Given the description of an element on the screen output the (x, y) to click on. 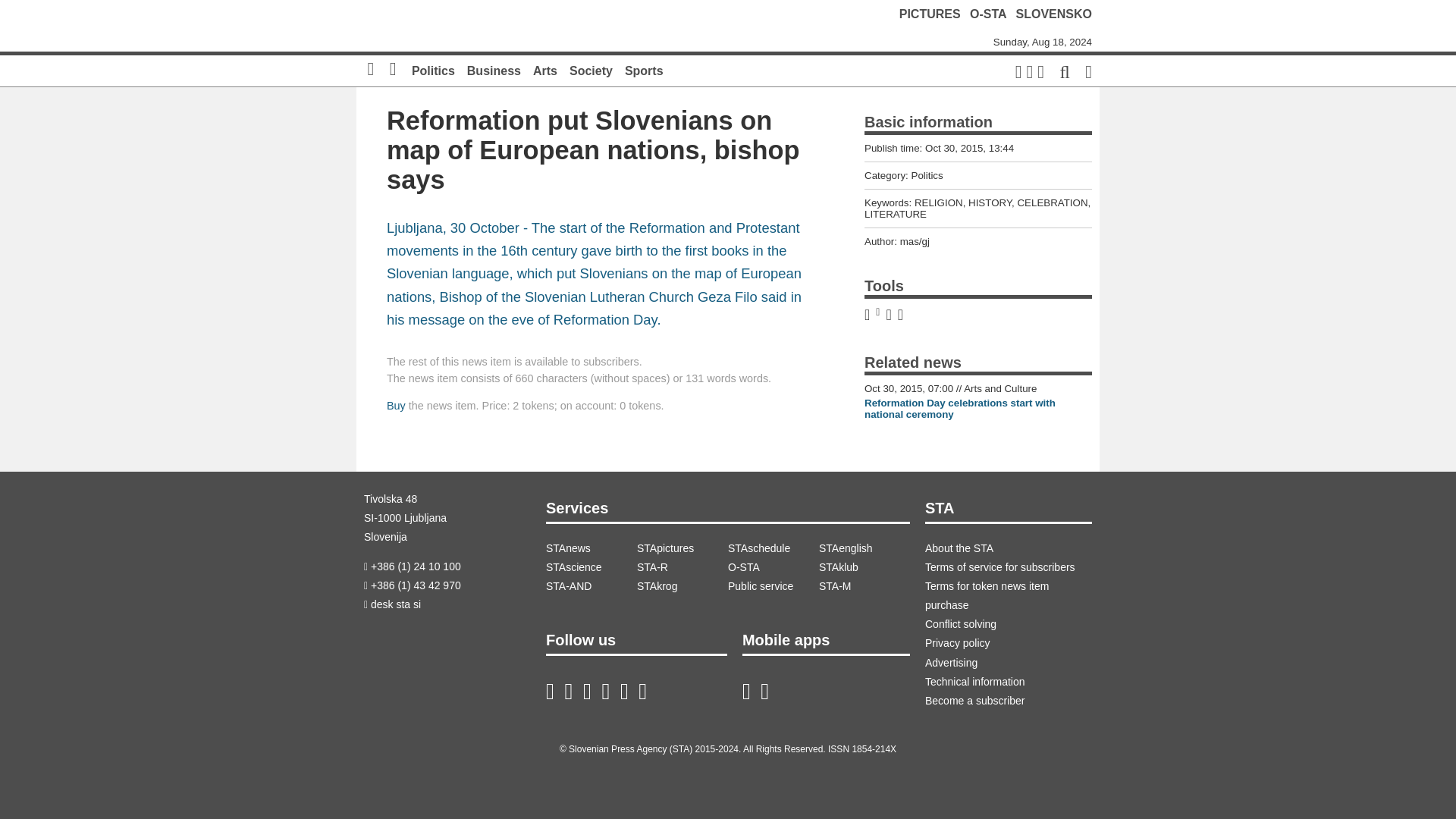
Arts (544, 70)
STAkrog (682, 586)
O-STA (987, 13)
STAenglish (864, 547)
O-STA (773, 567)
Buy (396, 405)
Reformation Day celebrations start with national ceremony (959, 408)
Sports (643, 70)
Society (590, 70)
Public service (773, 586)
